Given the description of an element on the screen output the (x, y) to click on. 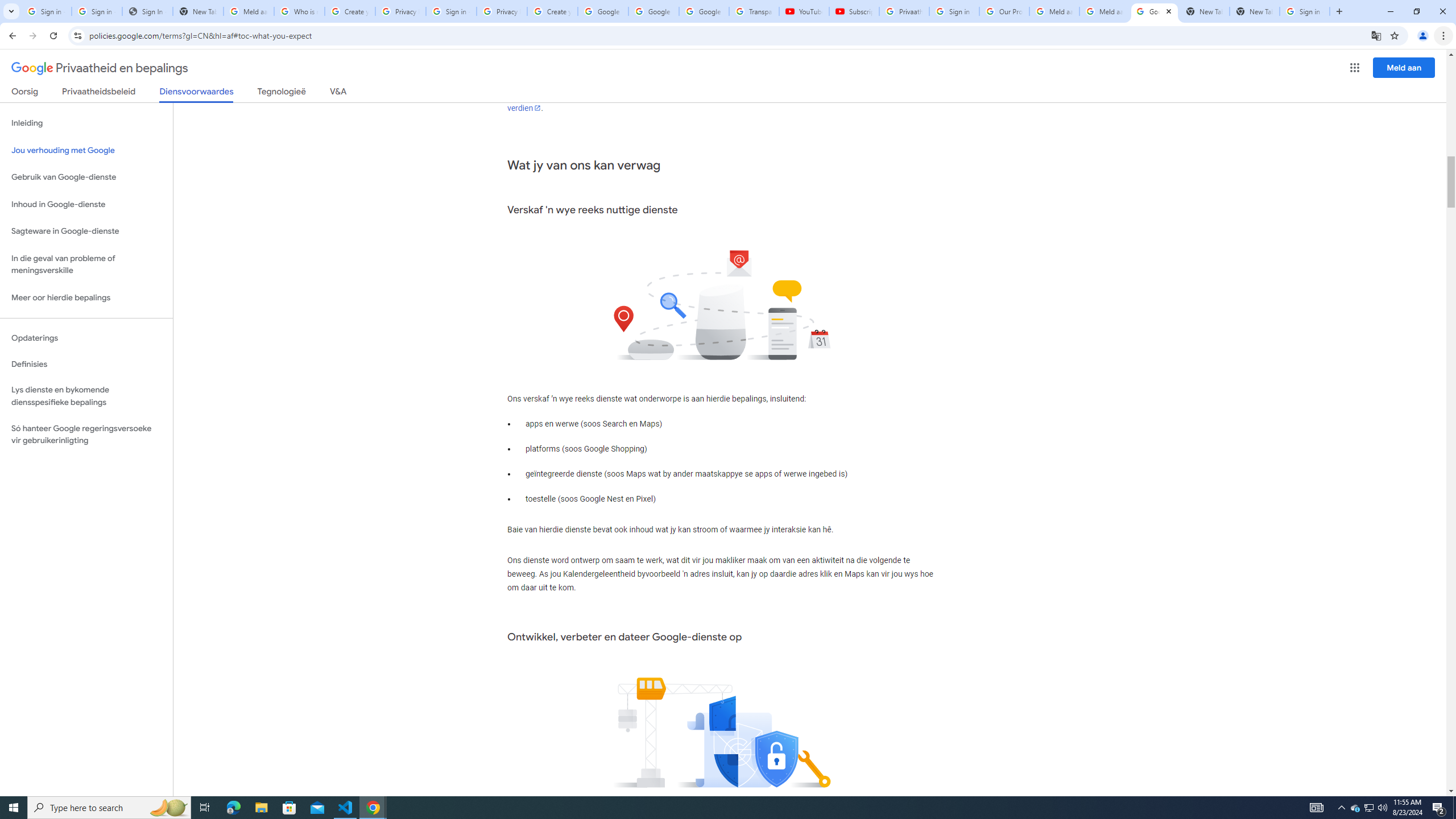
Oorsig (25, 93)
Diensvoorwaardes (196, 94)
Opdaterings (86, 338)
Sagteware in Google-dienste (86, 230)
geaffilieerdes (635, 80)
dienste (902, 80)
New Tab (1254, 11)
